Given the description of an element on the screen output the (x, y) to click on. 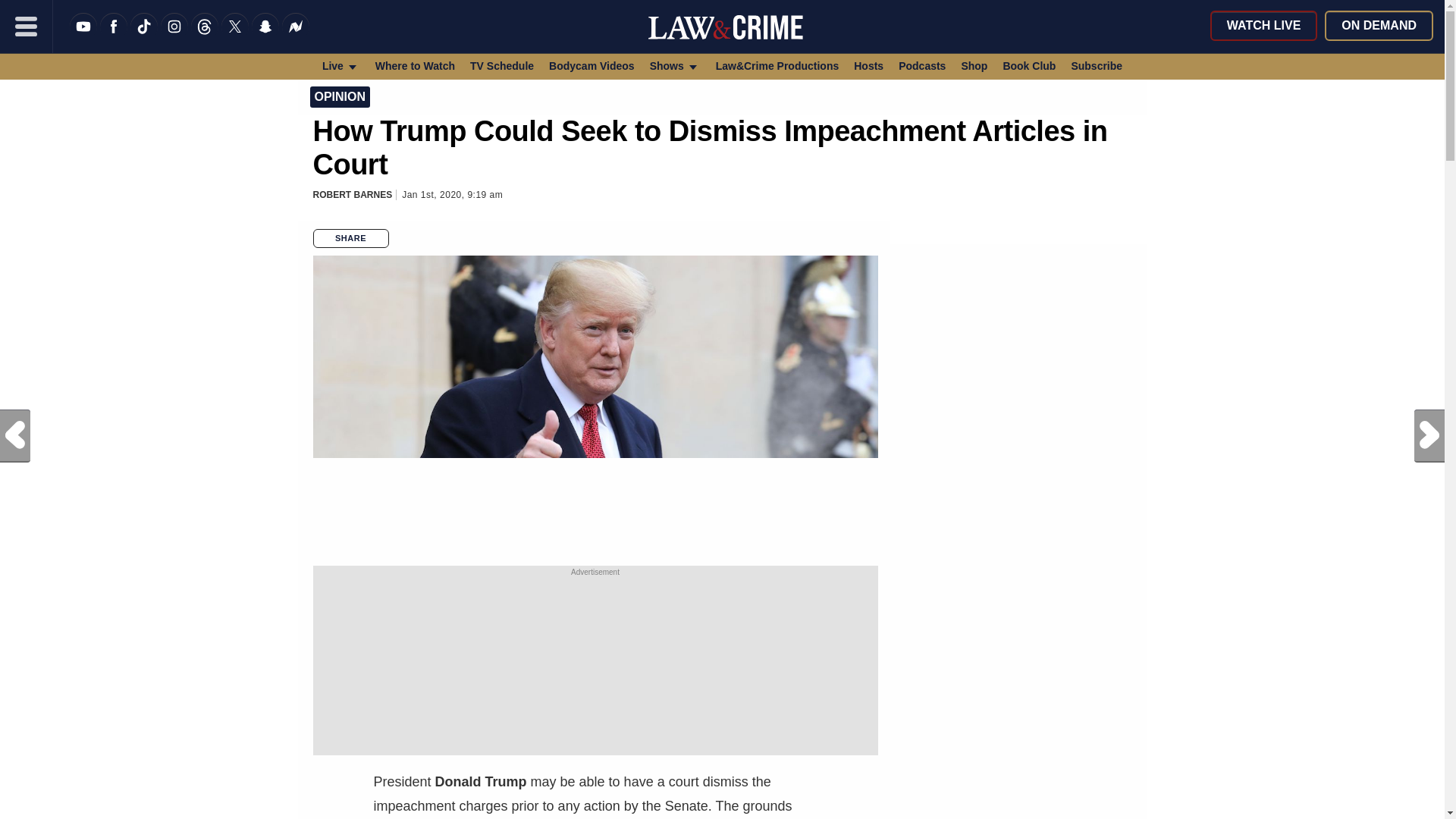
TikTok (144, 35)
Posts by Robert Barnes (352, 194)
Like us on Facebook (114, 35)
Threads (204, 35)
Snapchat (265, 35)
YouTube (83, 35)
News Break (295, 35)
Instagram (173, 35)
